Given the description of an element on the screen output the (x, y) to click on. 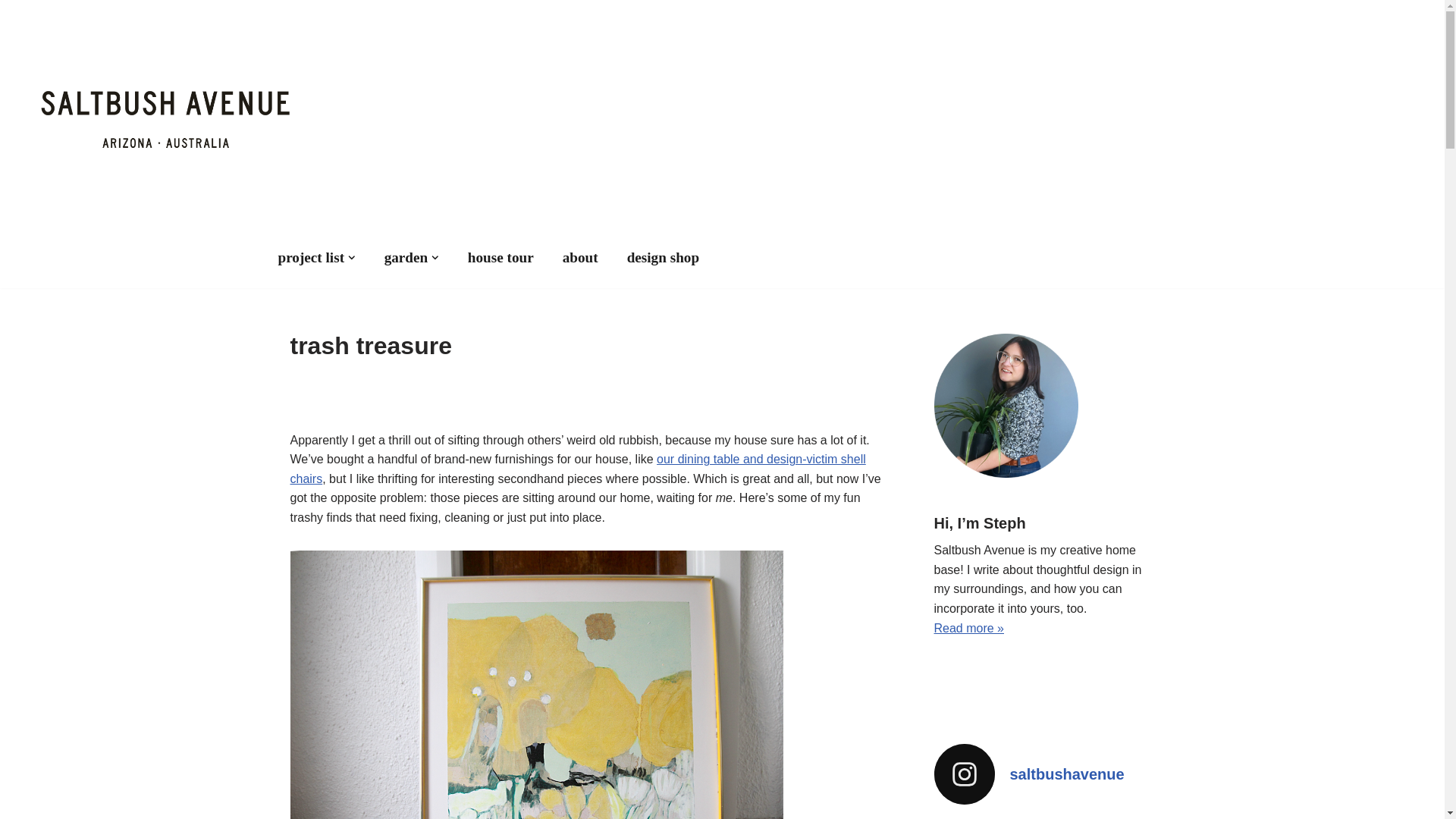
Saltbush Avenue on Etsy (662, 257)
about (580, 257)
garden (406, 257)
our dining table and design-victim shell chairs (576, 468)
project list (310, 257)
design shop (662, 257)
Skip to content (11, 31)
house tour (500, 257)
